Given the description of an element on the screen output the (x, y) to click on. 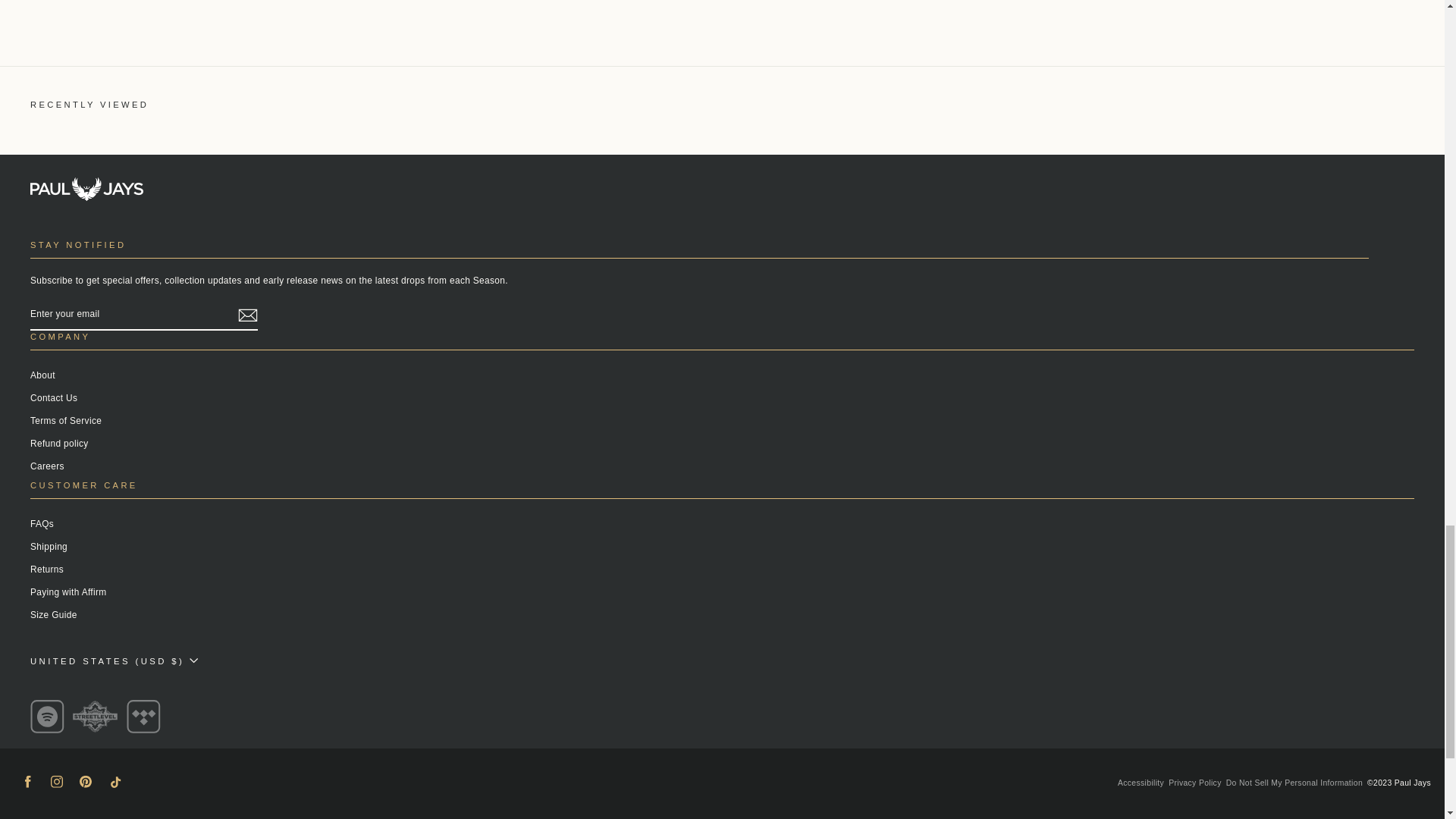
Tiktok (113, 781)
Facebook (27, 781)
Pinterest (85, 781)
Instagram (56, 781)
